Given the description of an element on the screen output the (x, y) to click on. 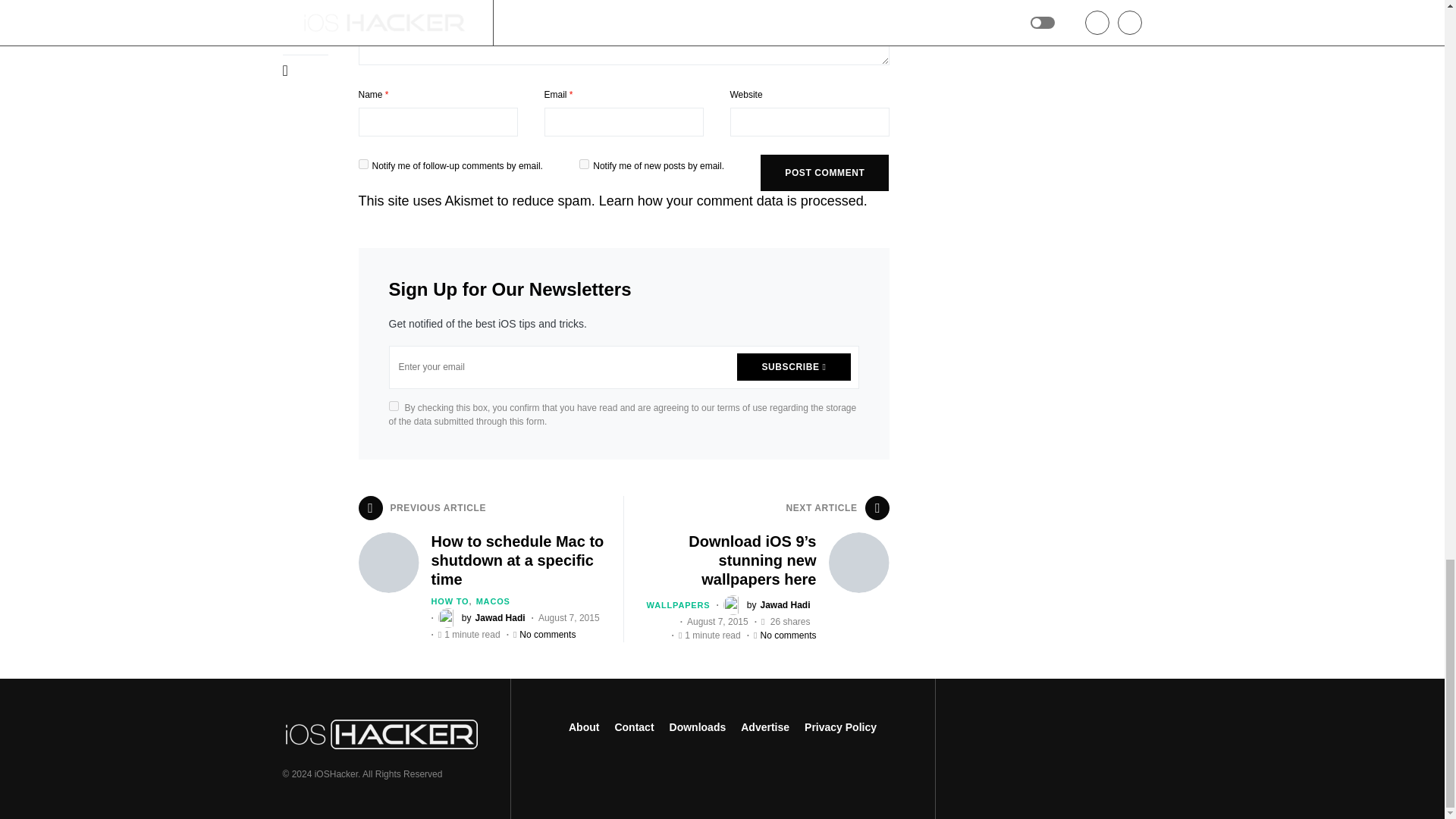
View all posts by Jawad Hadi (766, 605)
subscribe (584, 163)
View all posts by Jawad Hadi (481, 618)
on (392, 405)
Post Comment (824, 172)
subscribe (363, 163)
